Given the description of an element on the screen output the (x, y) to click on. 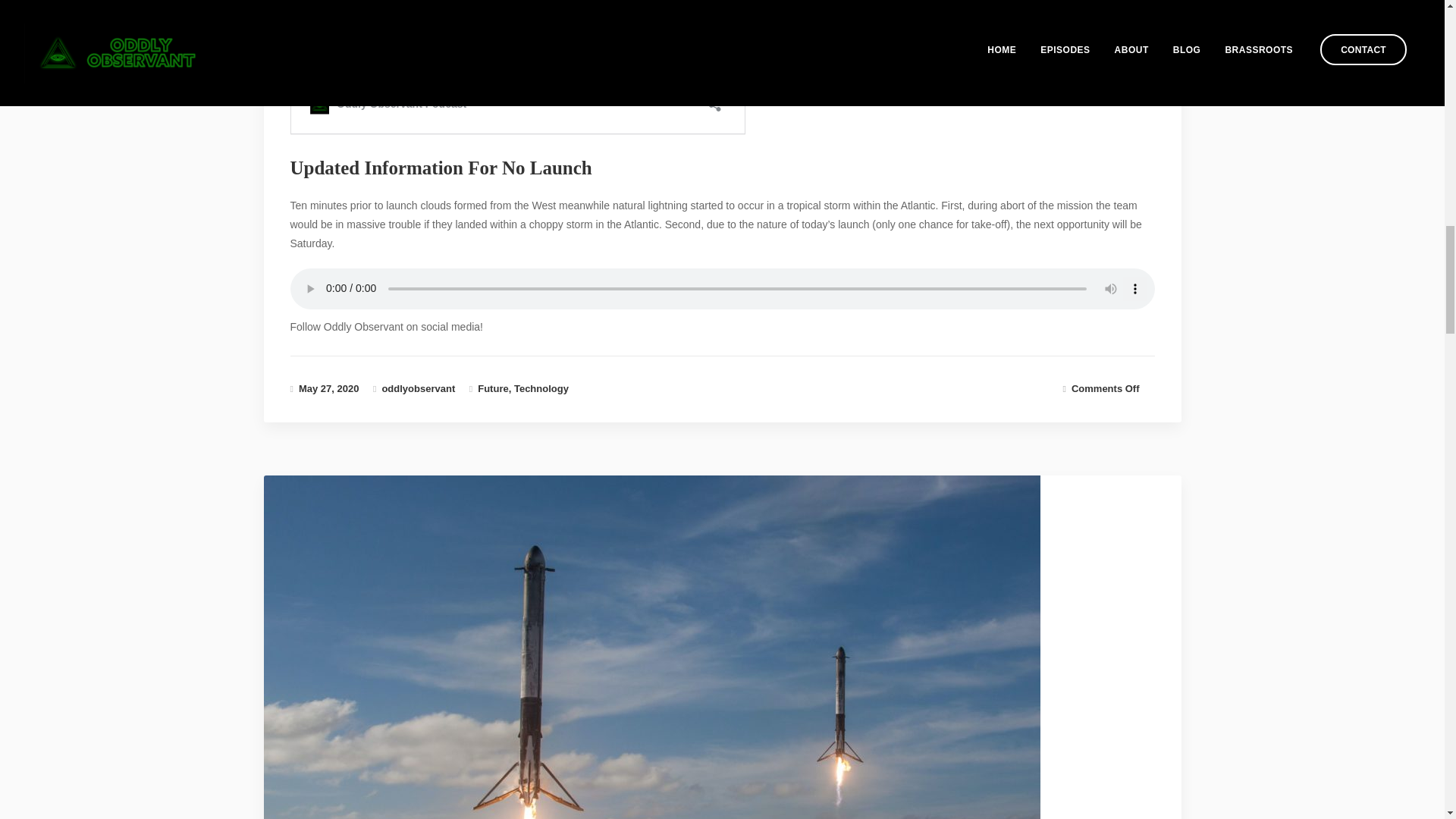
Technology (541, 388)
SpaceX Rocket Launch (664, 758)
Future (492, 388)
oddlyobservant (417, 388)
SpaceX Launch Postponed (328, 388)
May 27, 2020 (328, 388)
Posts by oddlyobservant (417, 388)
